Given the description of an element on the screen output the (x, y) to click on. 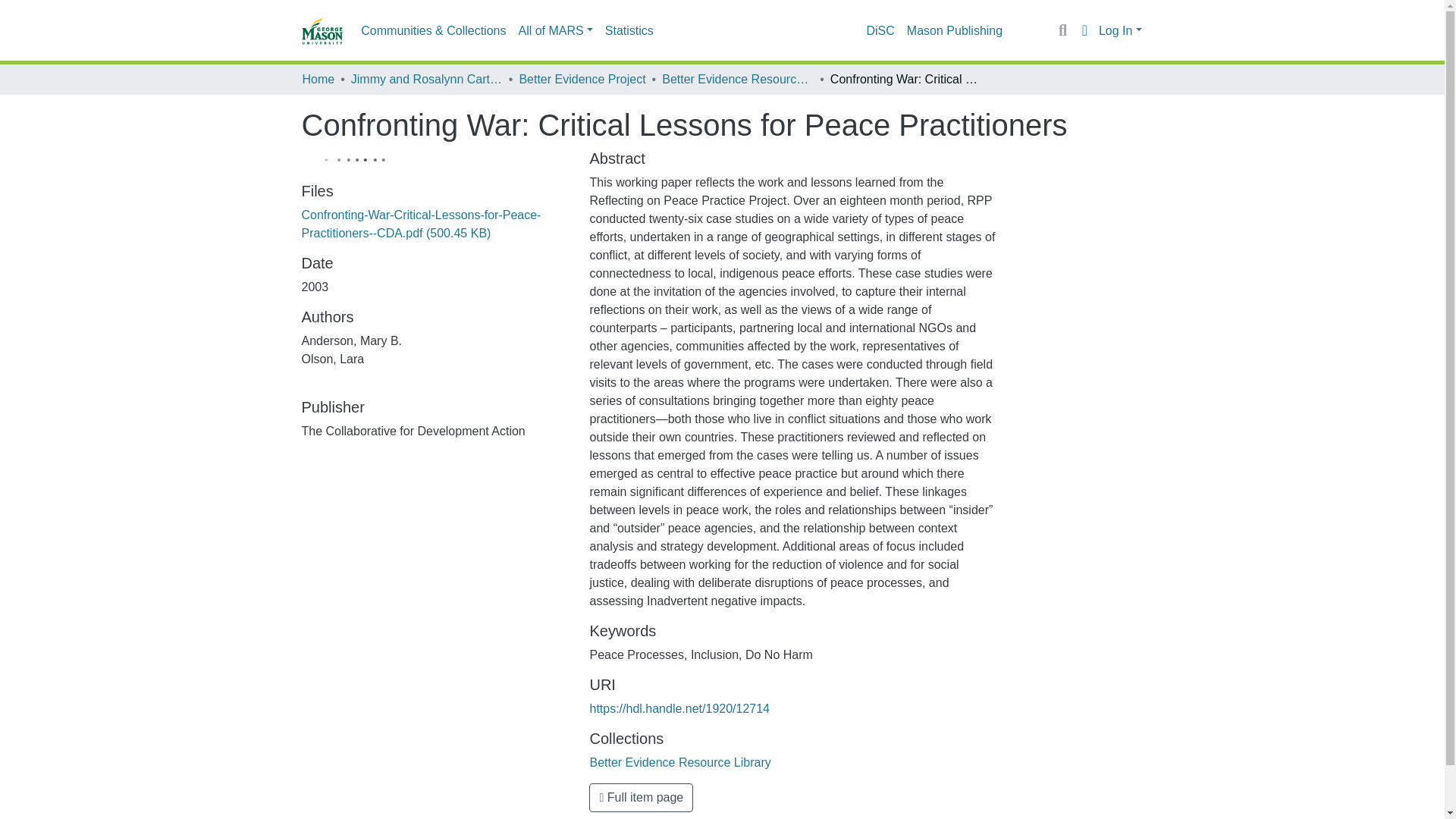
All of MARS (555, 30)
Full item page (641, 797)
Mason Publishing (955, 30)
Better Evidence Resource Library (737, 79)
Home (317, 79)
Log In (1119, 30)
Better Evidence Project (581, 79)
DiSC (879, 30)
Better Evidence Resource Library (679, 762)
